Given the description of an element on the screen output the (x, y) to click on. 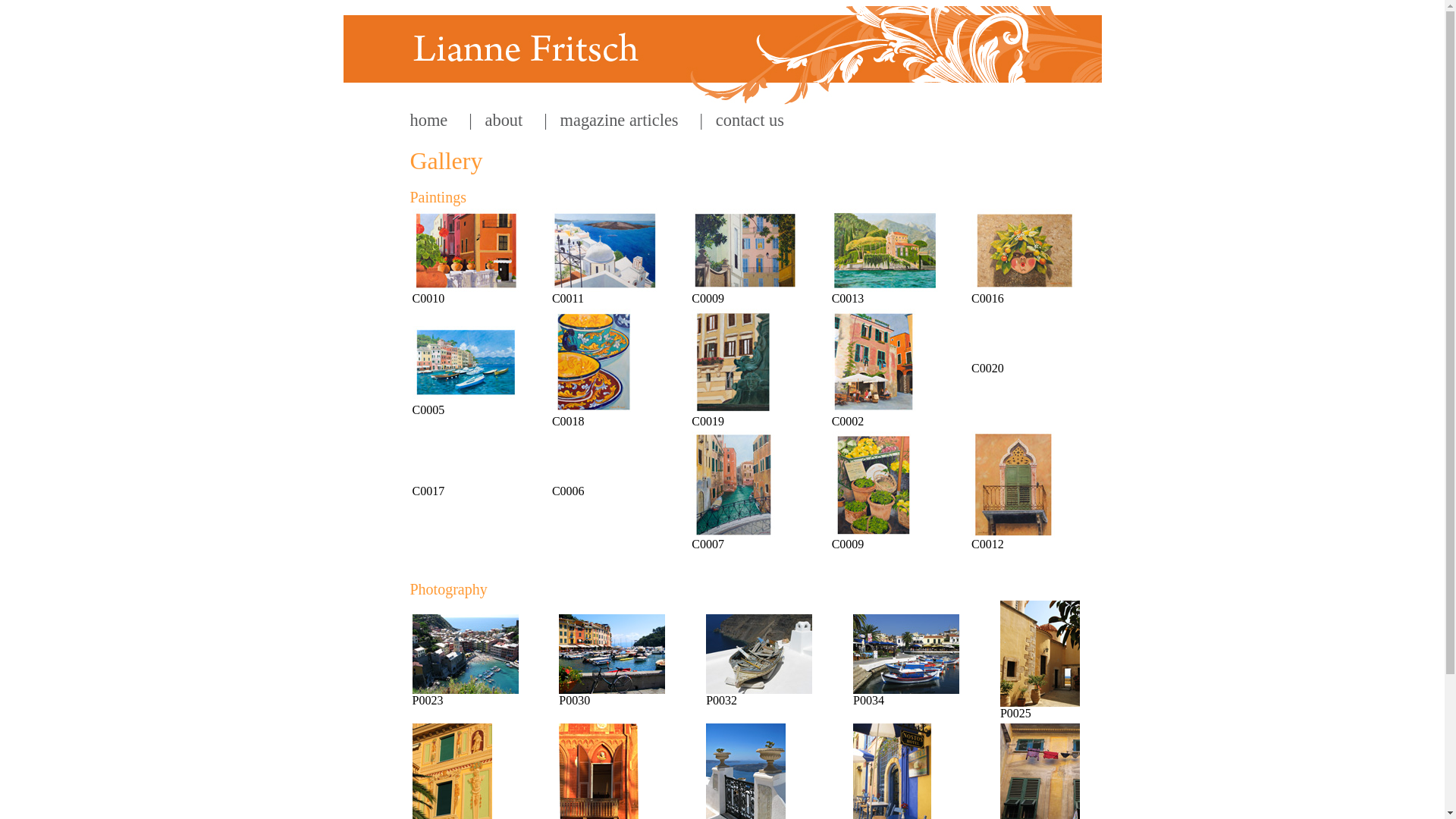
   about     | Element type: text (509, 120)
   magazine articles     | Element type: text (624, 120)
   contact us Element type: text (743, 120)
home     | Element type: text (440, 120)
